Given the description of an element on the screen output the (x, y) to click on. 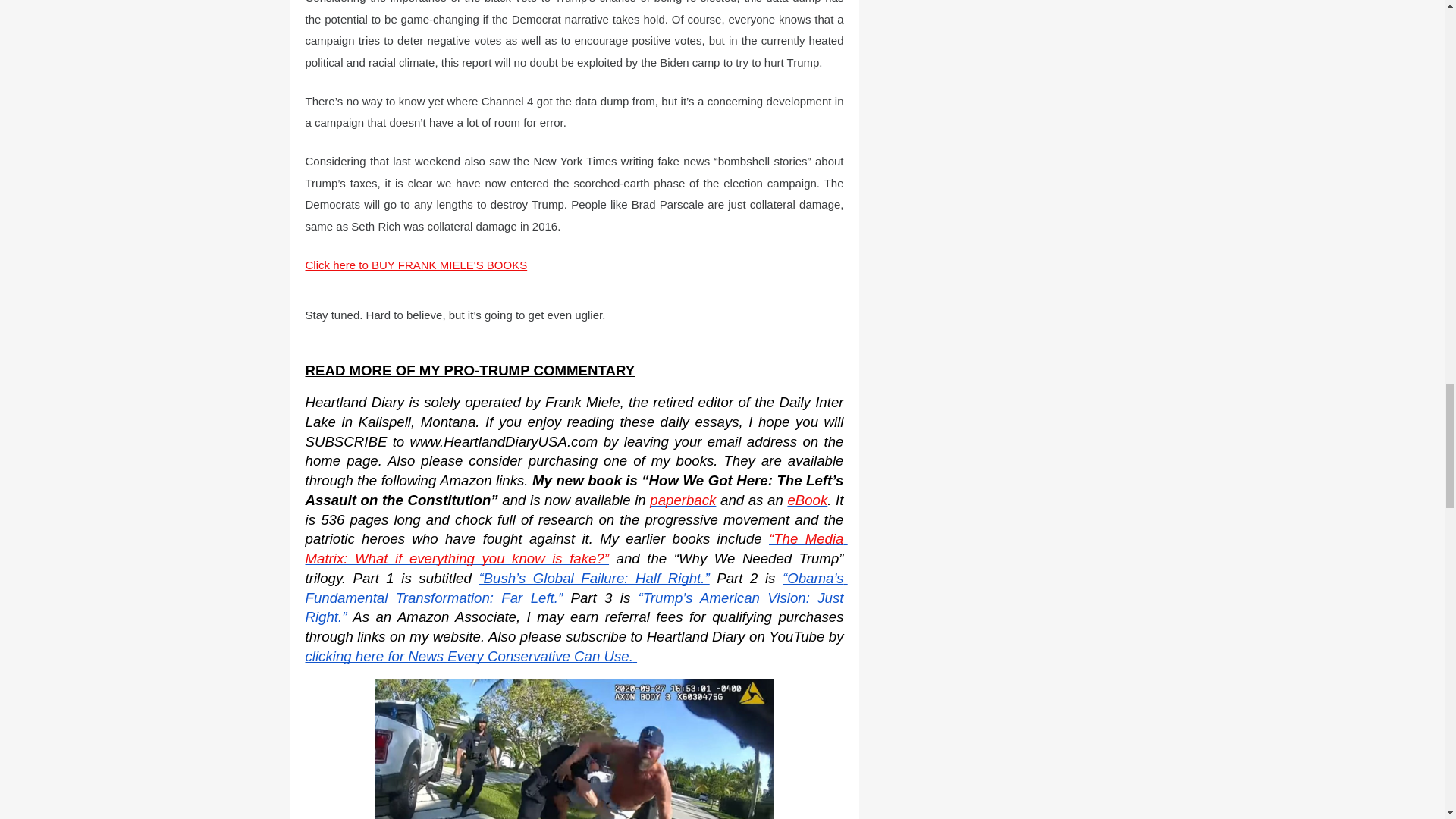
paperback (682, 499)
Click here to BUY FRANK MIELE'S BOOKS (415, 264)
eBook (807, 499)
